Given the description of an element on the screen output the (x, y) to click on. 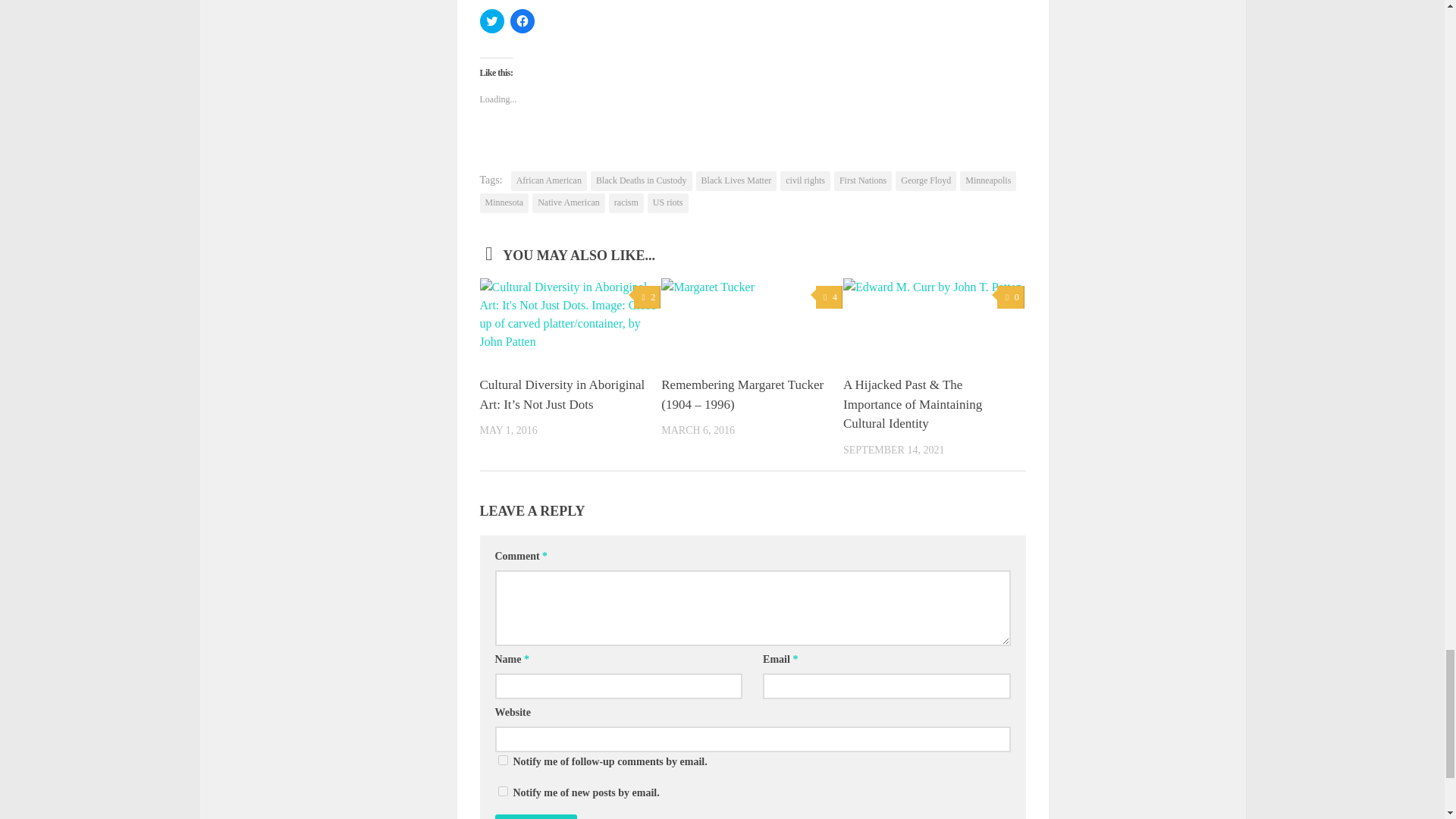
Click to share on Facebook (521, 21)
Click to share on Twitter (491, 21)
subscribe (501, 759)
subscribe (501, 791)
Post Comment (535, 816)
